Given the description of an element on the screen output the (x, y) to click on. 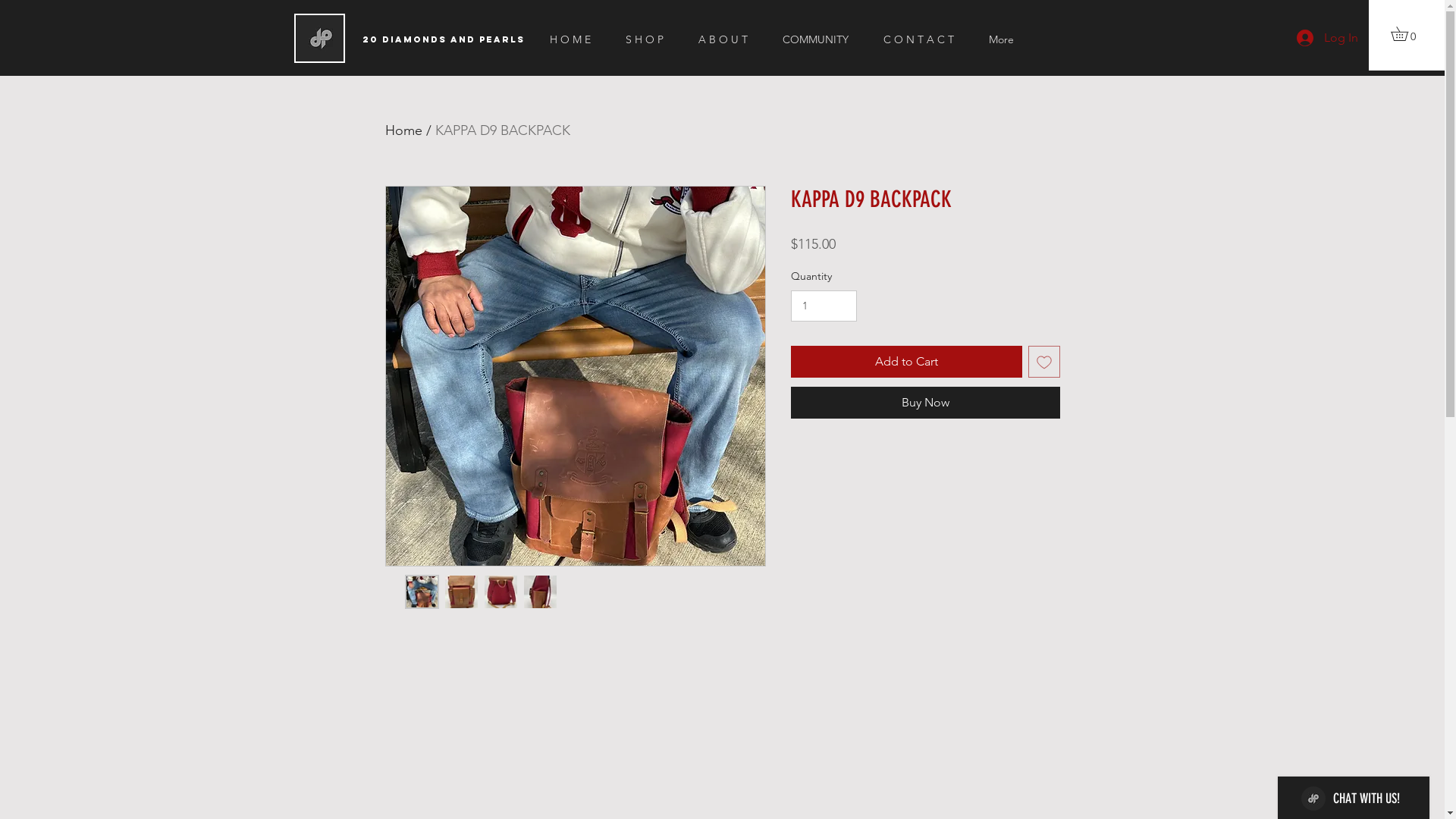
Home Element type: text (403, 130)
KAPPA D9 BACKPACK Element type: text (502, 130)
S H O P Element type: text (650, 39)
C O N T A C T Element type: text (924, 39)
H O M E Element type: text (576, 39)
COMMUNITY Element type: text (820, 39)
A B O U T Element type: text (729, 39)
Log In Element type: text (1327, 37)
Add to Cart Element type: text (905, 361)
vectorstock_7632796.jpg Element type: hover (320, 37)
20 Diamonds and Pearls Element type: text (443, 39)
0 Element type: text (1405, 33)
Buy Now Element type: text (924, 402)
